Given the description of an element on the screen output the (x, y) to click on. 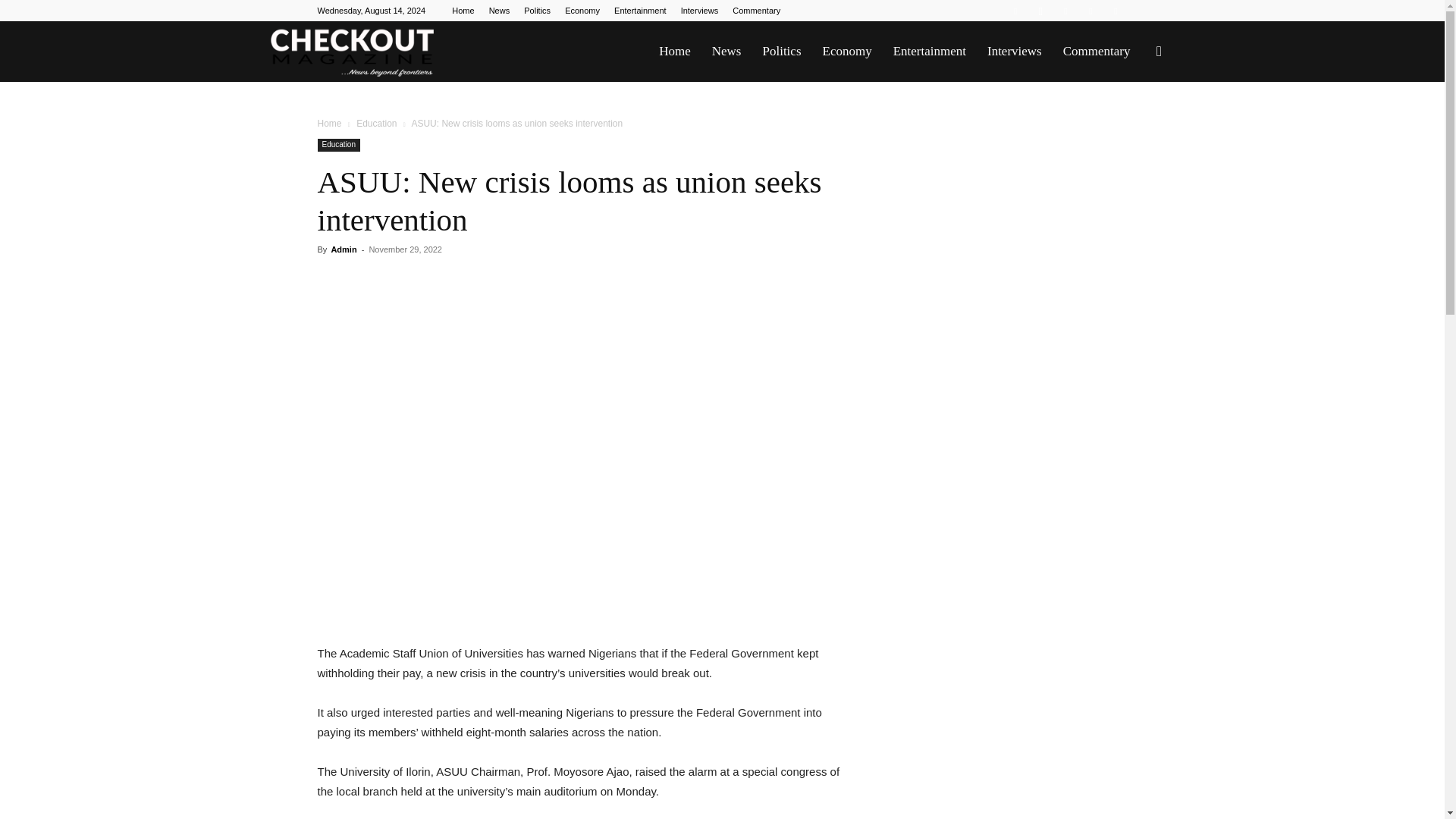
Home (328, 122)
Interviews (1014, 51)
CHECKOUT MAGAZINE (351, 52)
Search (1134, 124)
Mail (1065, 10)
Economy (581, 10)
Economy (846, 51)
Entertainment (929, 51)
Home (462, 10)
Entertainment (639, 10)
